Given the description of an element on the screen output the (x, y) to click on. 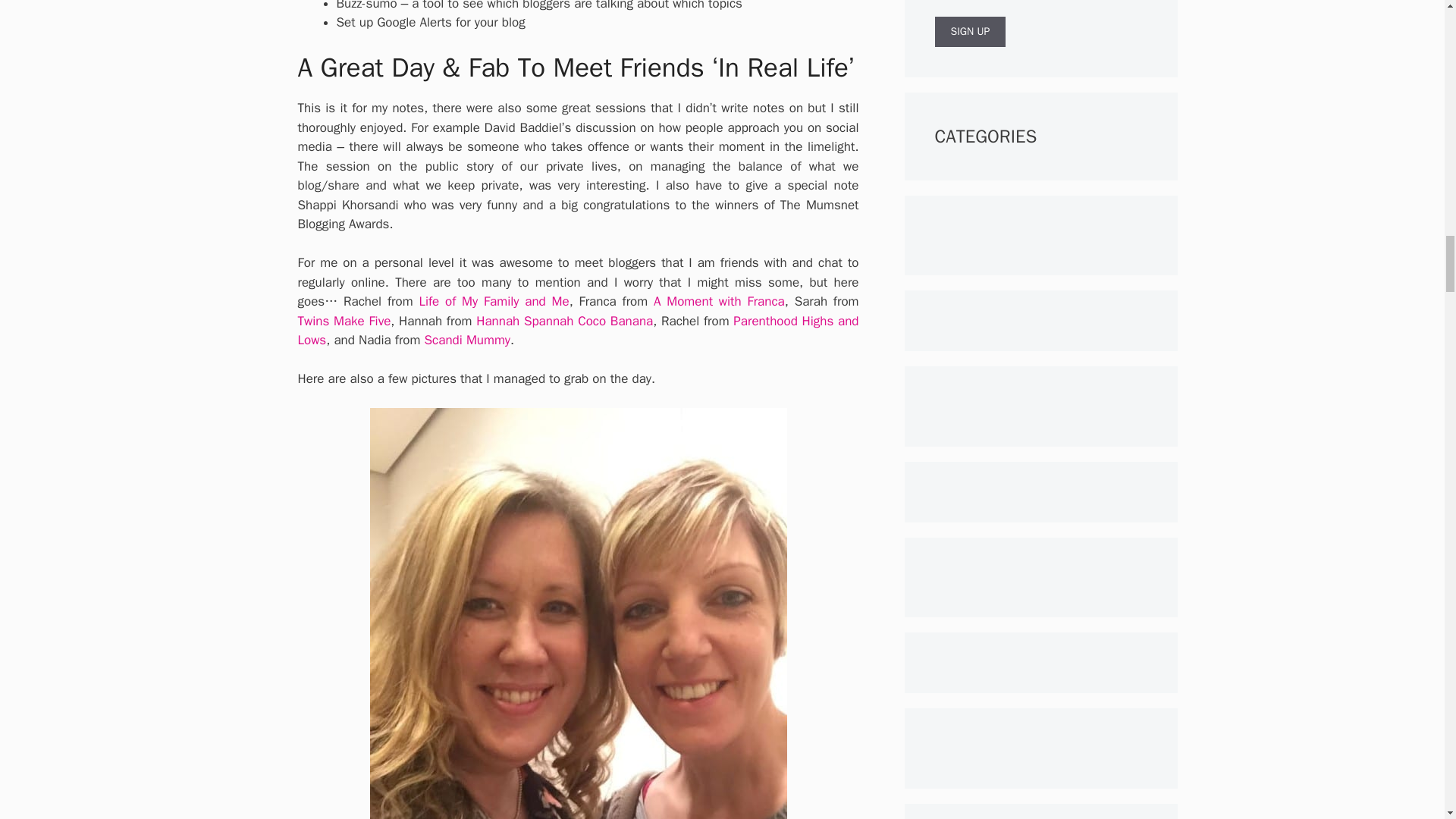
A Moment with Franca (718, 301)
Hannah Spannah Coco Banana (564, 320)
Scandi Mummy (468, 340)
Life of My Family and Me (494, 301)
Sign up (970, 31)
Twins Make Five (343, 320)
Parenthood Highs and Lows (578, 330)
